Given the description of an element on the screen output the (x, y) to click on. 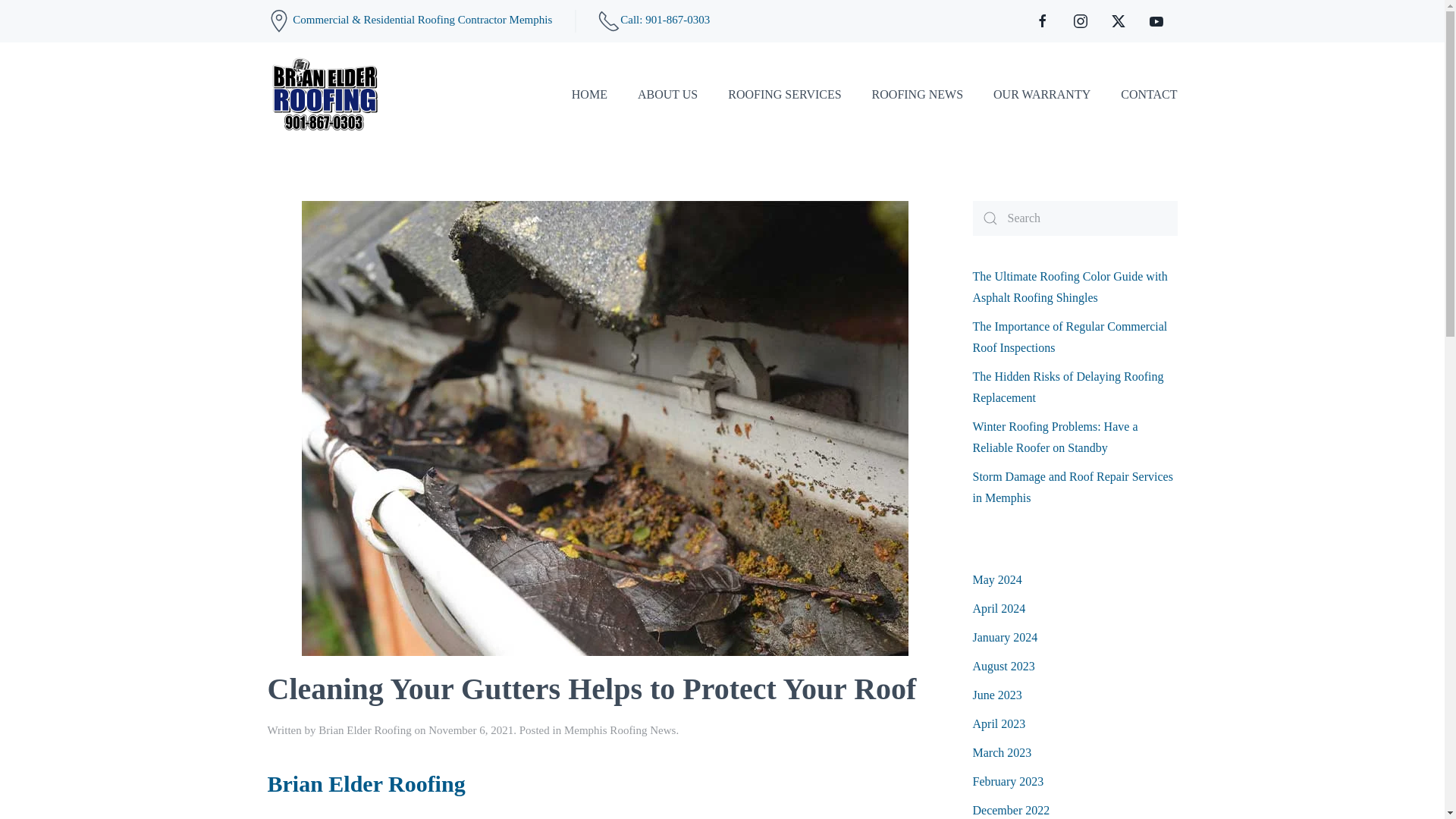
ROOFING SERVICES (784, 94)
CONTACT (1148, 94)
ROOFING NEWS (917, 94)
Memphis Roofing News (620, 729)
Brian Elder Roofing (365, 783)
Call: 901-867-0303 (665, 19)
Brian Elder Roofing (364, 729)
ABOUT US (667, 94)
OUR WARRANTY (1041, 94)
